Given the description of an element on the screen output the (x, y) to click on. 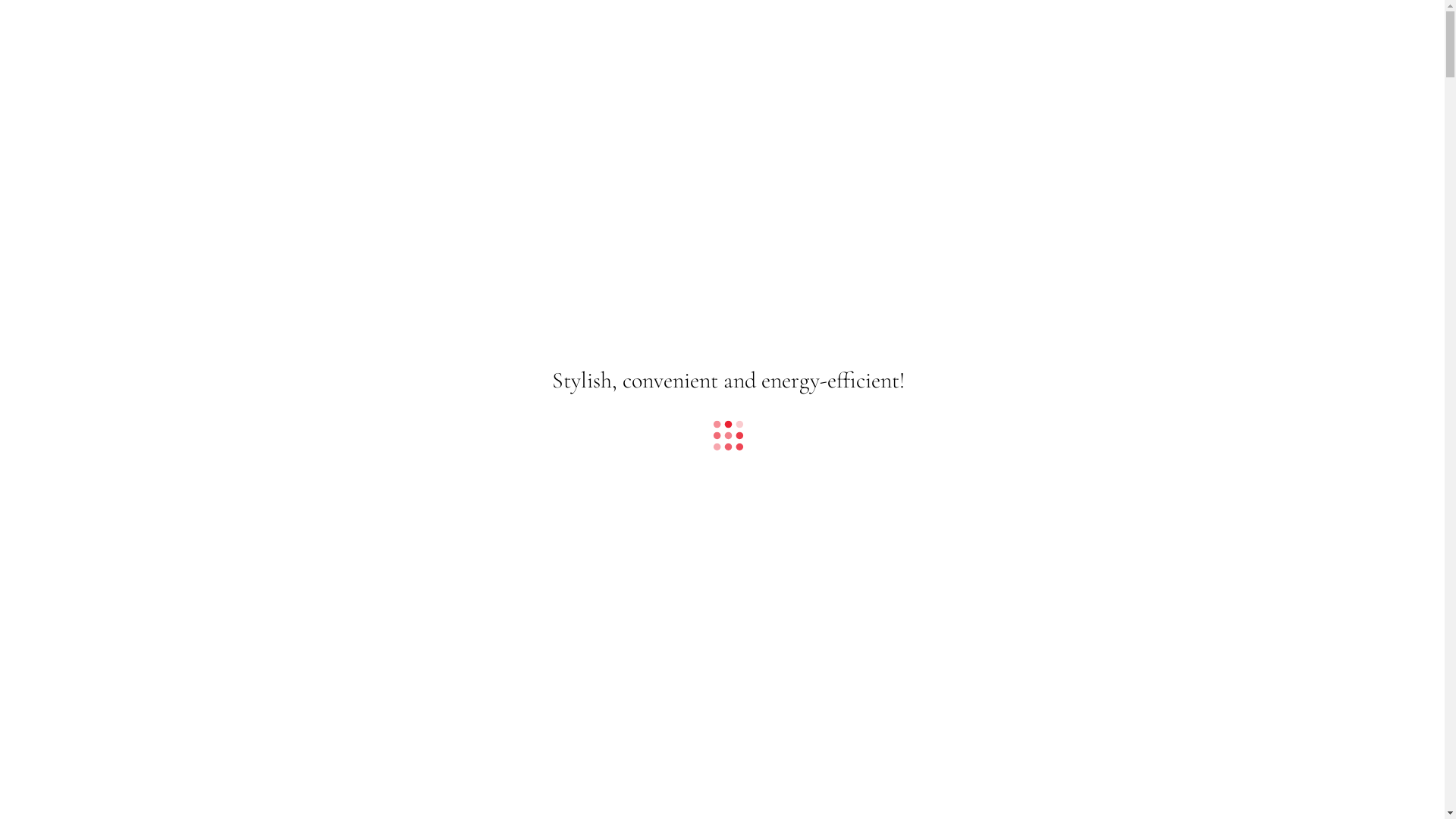
FLOOR PLAN AND SITE PLAN Element type: text (114, 98)
SCHEDULE & CONTACT Element type: text (101, 143)
264 Mather Street Element type: text (82, 27)
VIDEO TOUR Element type: text (76, 83)
264 MATHER STREET Element type: text (722, 752)
LOCATION Element type: text (71, 128)
FEATURES Element type: text (69, 113)
GALLERY Element type: text (67, 68)
Toggle navigation Element type: text (10, 32)
